Given the description of an element on the screen output the (x, y) to click on. 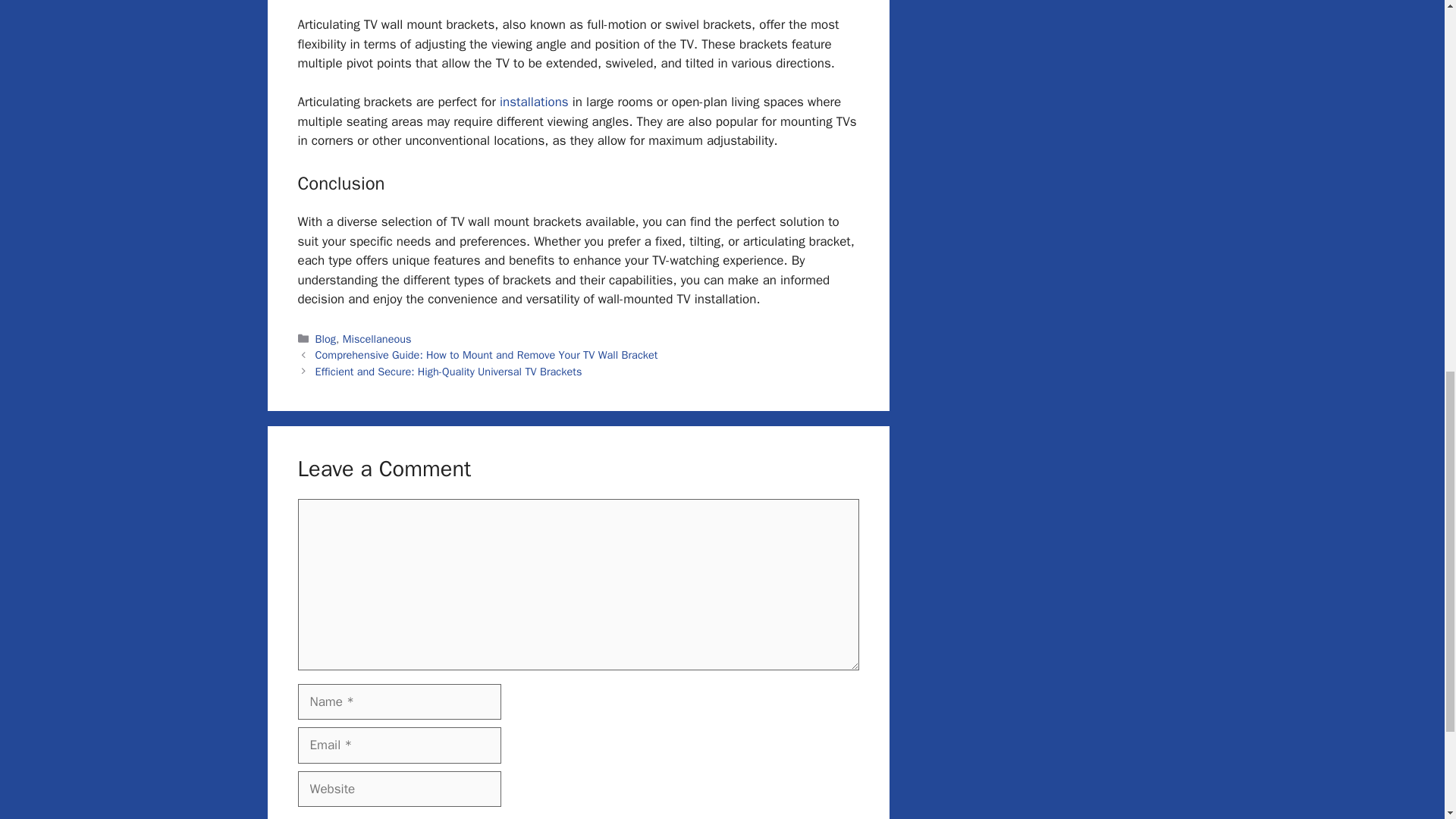
Miscellaneous (377, 338)
installations (532, 101)
Efficient and Secure: High-Quality Universal TV Brackets (448, 371)
Blog (325, 338)
